Given the description of an element on the screen output the (x, y) to click on. 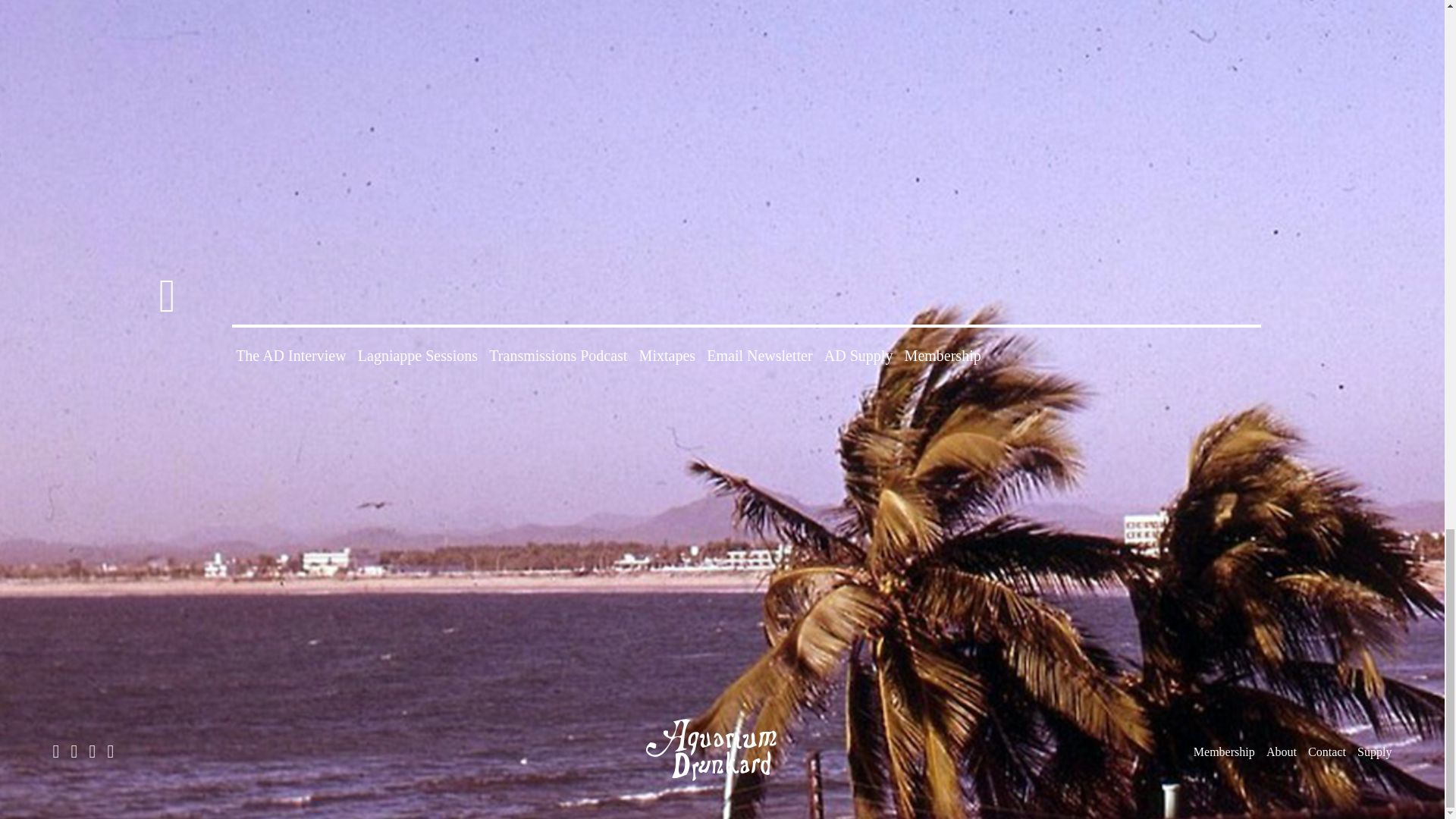
The AD Interview (290, 355)
Mixtapes (667, 355)
AD Supply (858, 355)
Contact Aquarium Drunkard (1326, 751)
Aquarium Drunkard (721, 784)
Lagniappe Sessions (417, 355)
Membership (1224, 751)
Aquarium Drunkard (721, 750)
About (1281, 751)
Membership (942, 355)
About Aquarium Drunkard (1281, 751)
Aquarium Drunkard Merch Shop (1373, 751)
Transmissions Podcast (558, 355)
Email Newsletter (759, 355)
